Given the description of an element on the screen output the (x, y) to click on. 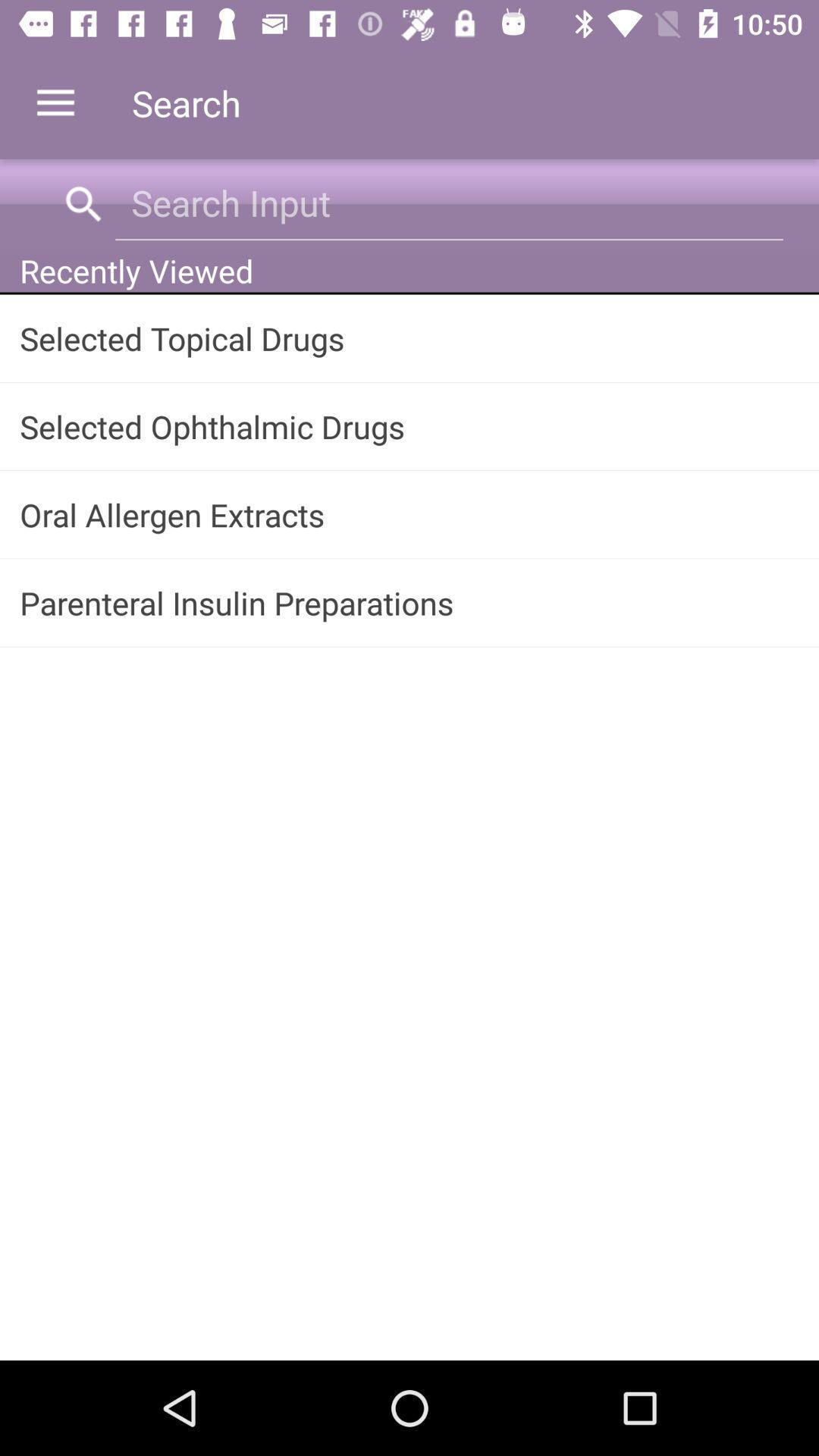
turn on the icon above the selected ophthalmic drugs app (409, 338)
